Given the description of an element on the screen output the (x, y) to click on. 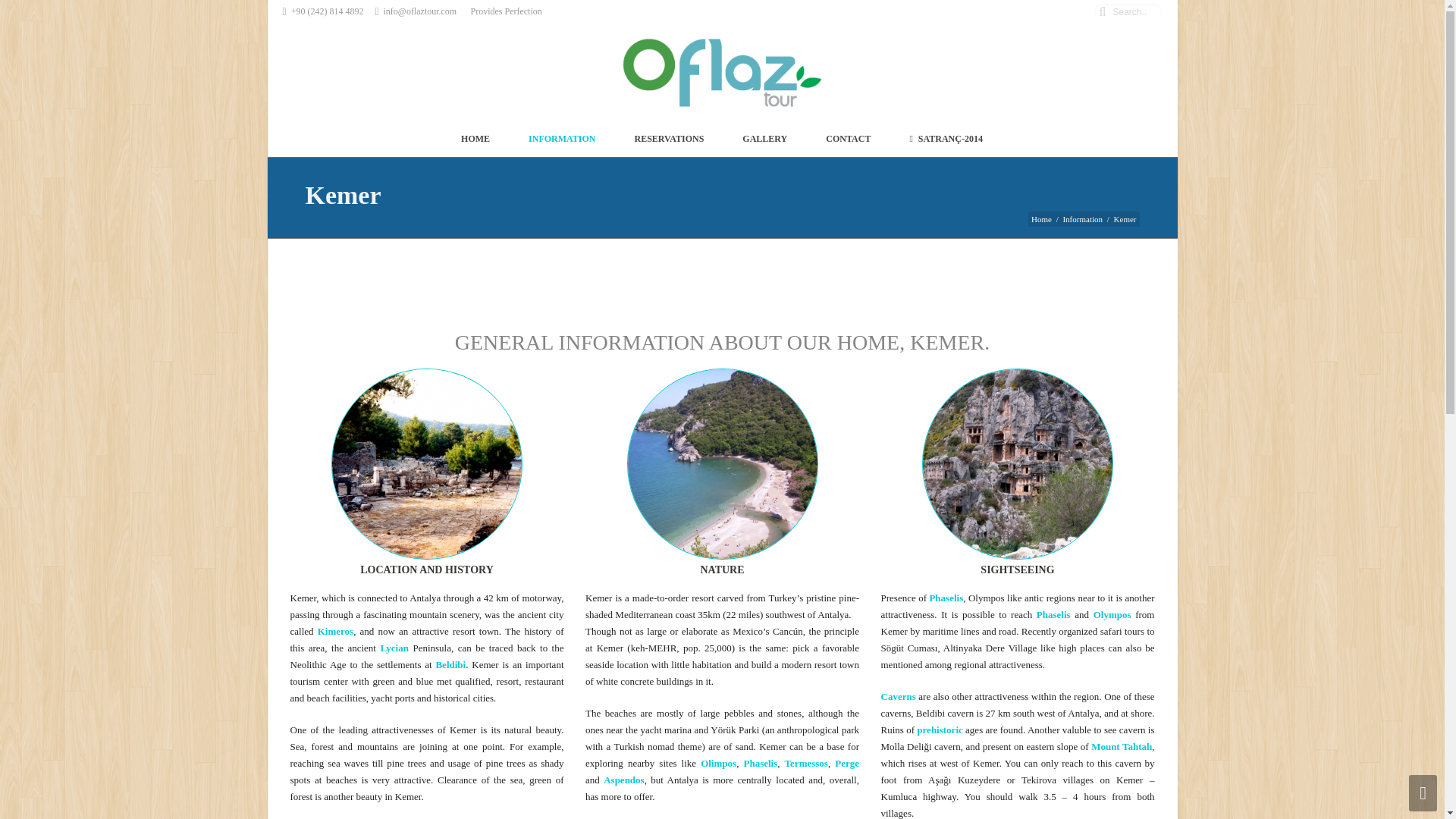
Home (1040, 218)
OflazTour (721, 72)
Information (1082, 218)
RESERVATIONS (669, 137)
GALLERY (764, 137)
HOME (475, 137)
CONTACT (847, 137)
INFORMATION (561, 137)
Information (1082, 218)
